Given the description of an element on the screen output the (x, y) to click on. 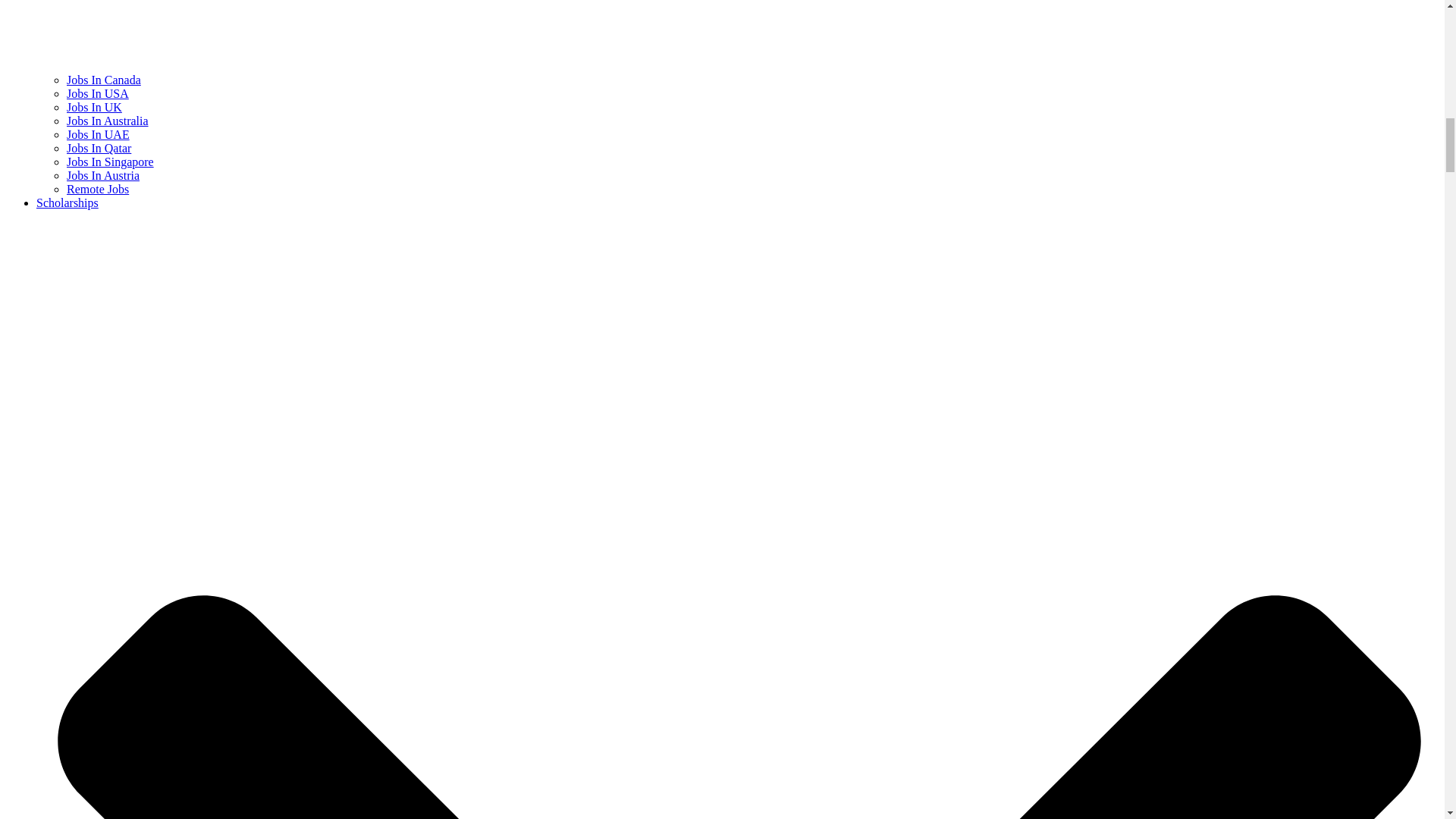
Jobs In UAE (97, 133)
Jobs In USA (97, 92)
Jobs In Canada (103, 79)
Remote Jobs (97, 188)
Jobs In UK (94, 106)
Jobs In Austria (102, 174)
Jobs In Qatar (98, 147)
Scholarships (67, 202)
Jobs In Australia (107, 120)
Jobs In Singapore (110, 161)
